Given the description of an element on the screen output the (x, y) to click on. 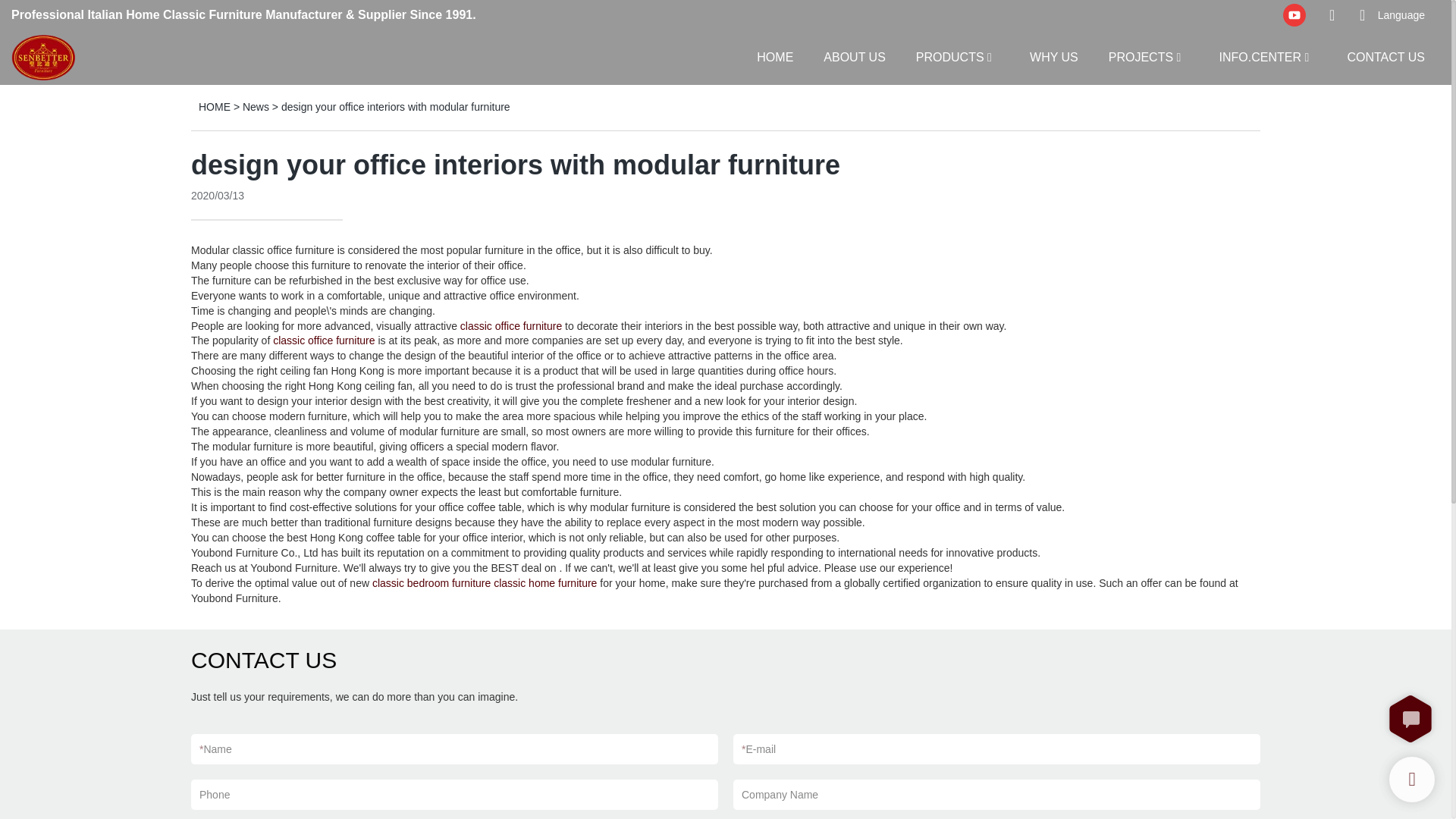
classic bedroom furniture (431, 582)
classic office furniture (323, 340)
classic home furniture (544, 582)
PROJECTS (1140, 56)
INFO.CENTER (1260, 56)
youtube (1293, 15)
classic home furniture (544, 582)
design your office interiors with modular furniture (396, 106)
classic office furniture (282, 250)
HOME (775, 56)
